Given the description of an element on the screen output the (x, y) to click on. 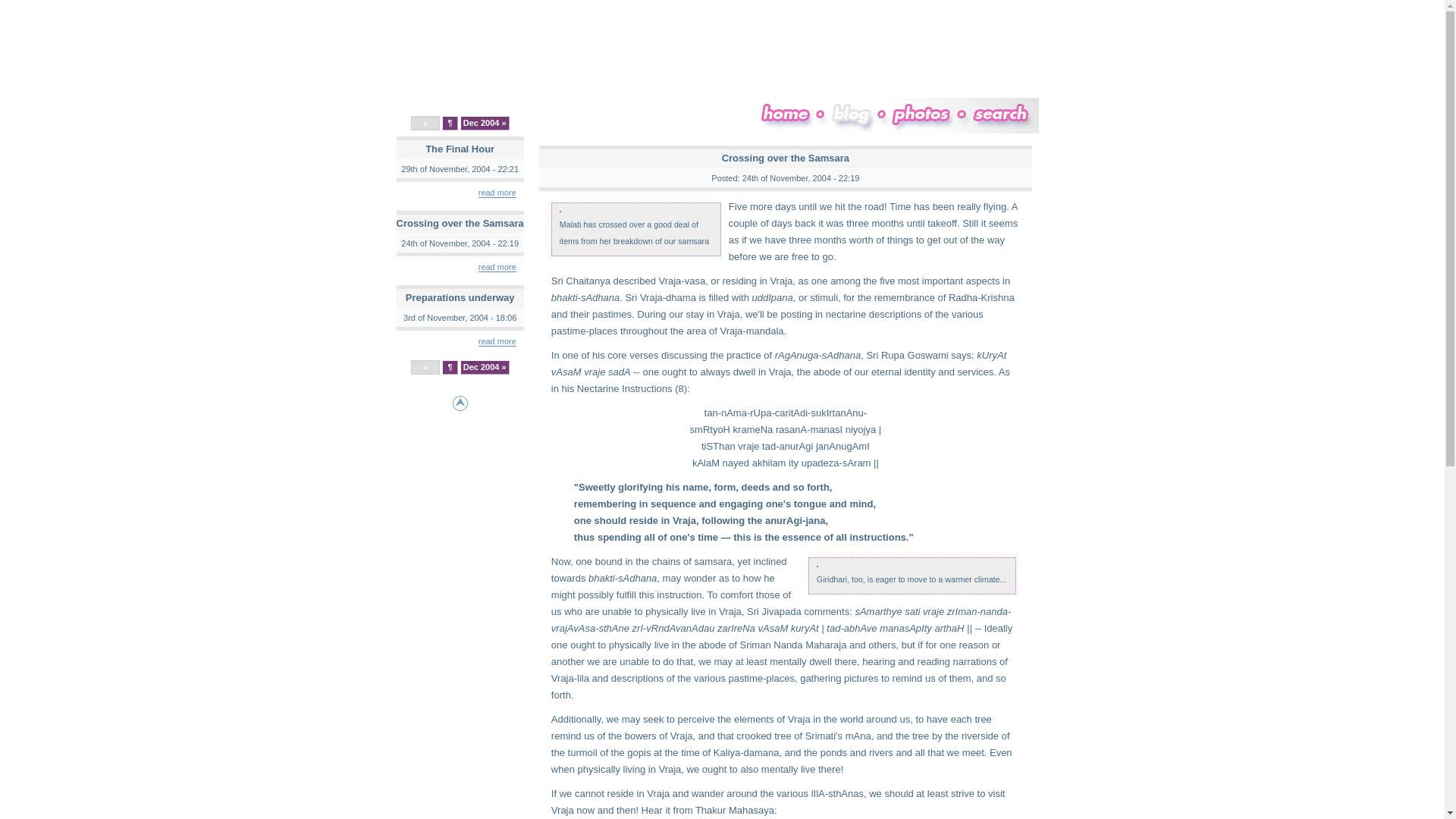
Search (999, 165)
Home (786, 165)
Blog (849, 165)
read more (497, 266)
read more (497, 341)
Photos (920, 165)
read more (497, 193)
